Given the description of an element on the screen output the (x, y) to click on. 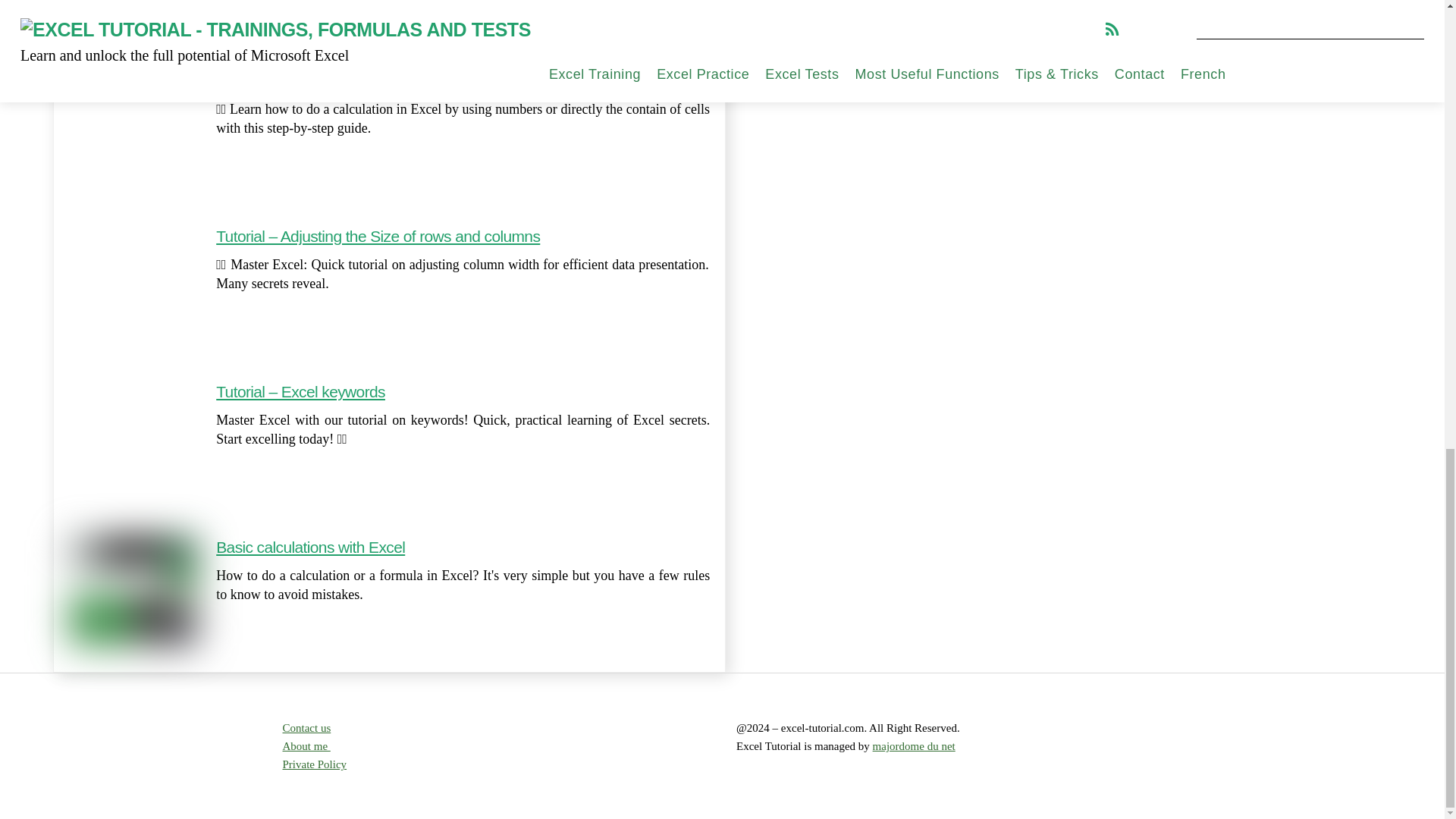
Basic Calculation Cover (132, 591)
Basic calculations with Excel (309, 547)
picto formation 1 (132, 291)
Excel Beginner Cover (132, 22)
picto formation 1 (132, 135)
picto formation 1 (132, 447)
